Given the description of an element on the screen output the (x, y) to click on. 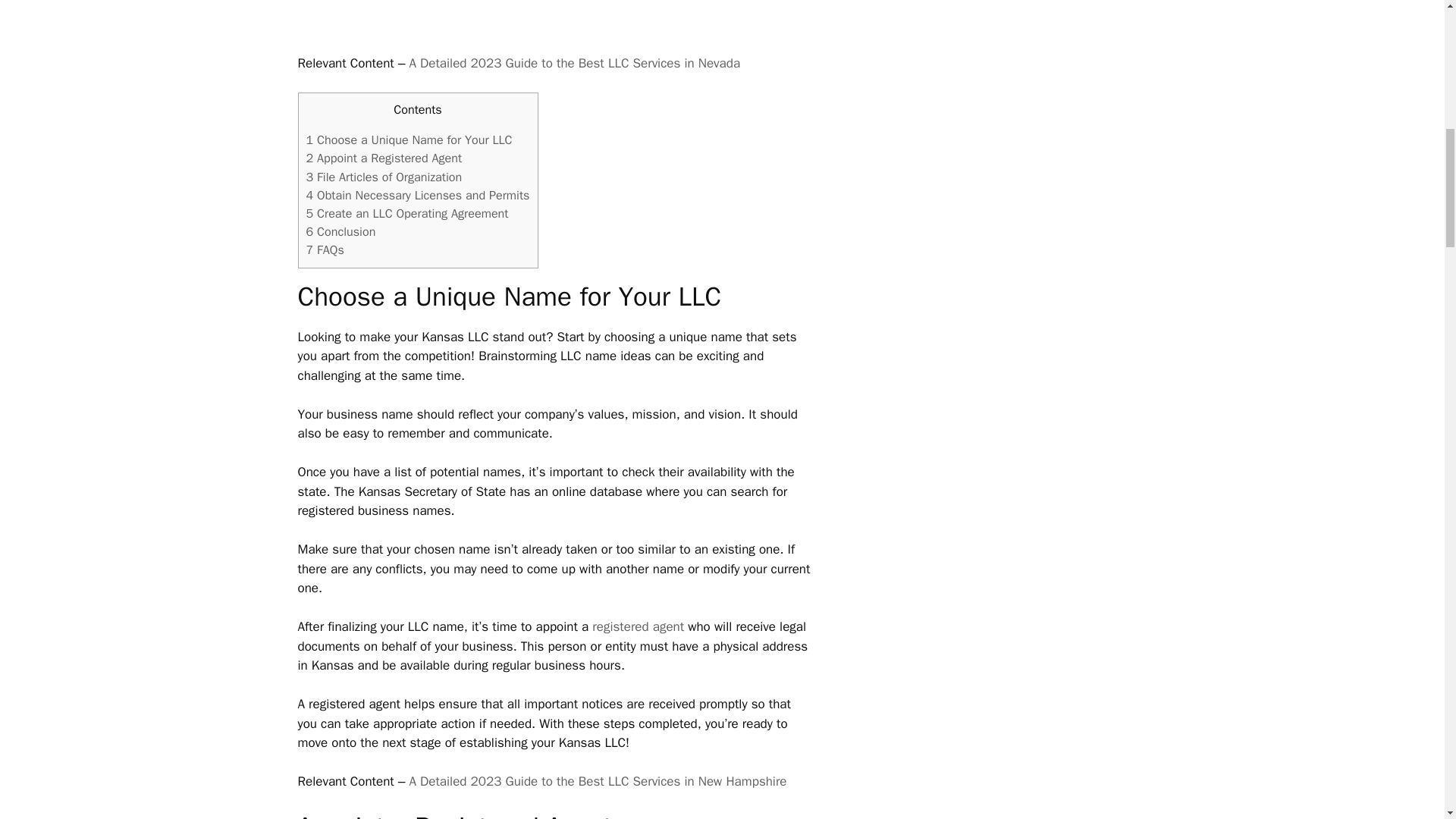
4 Obtain Necessary Licenses and Permits (417, 195)
6 Conclusion (340, 231)
registered agent (638, 626)
A Detailed 2023 Guide to the Best LLC Services in Nevada (574, 63)
2 Appoint a Registered Agent (384, 157)
5 Create an LLC Operating Agreement (406, 213)
7 FAQs (324, 249)
3 File Articles of Organization (384, 176)
